Given the description of an element on the screen output the (x, y) to click on. 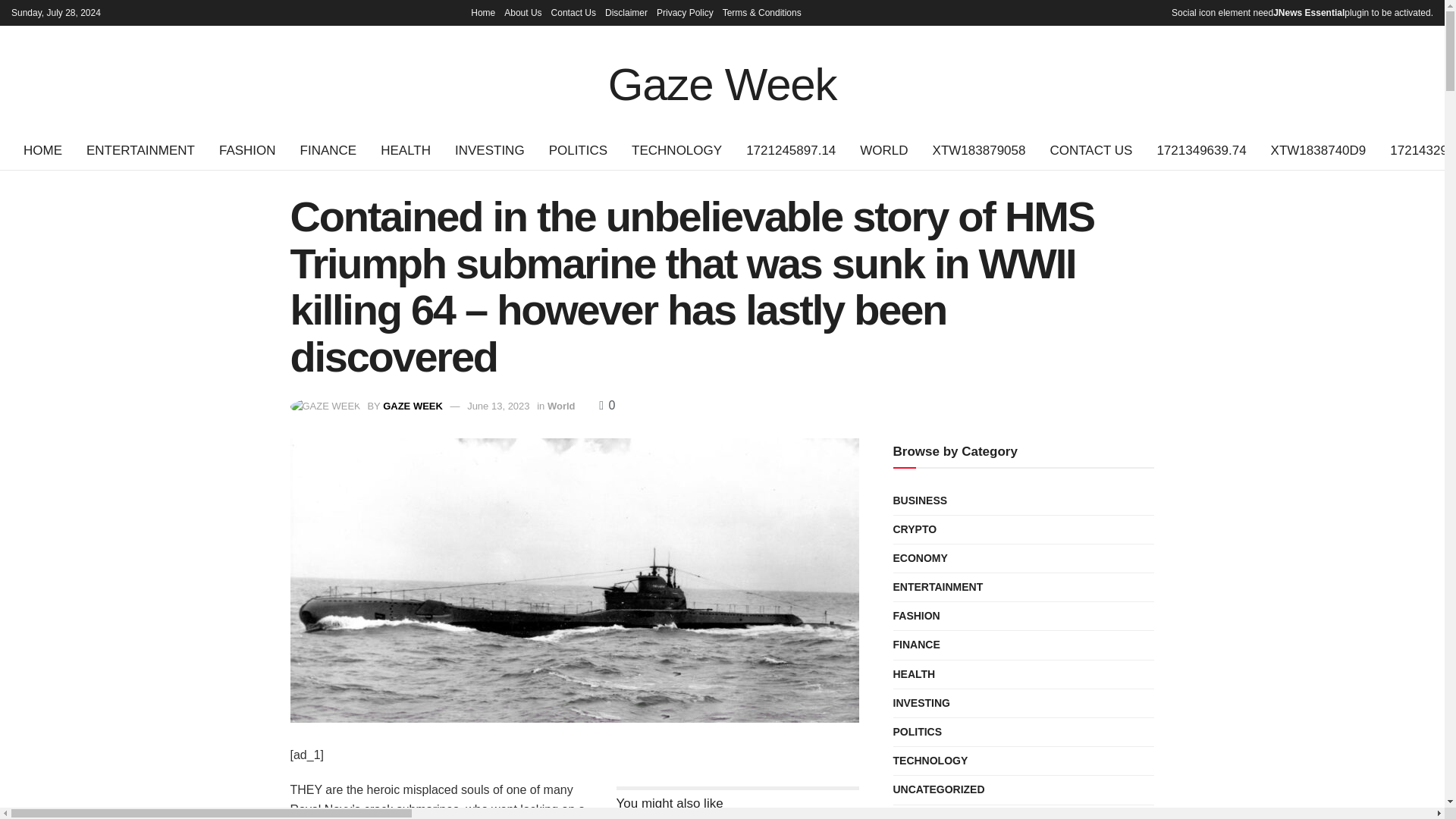
FINANCE (328, 150)
XTW1838740D9 (1318, 150)
Disclaimer (626, 12)
HOME (42, 150)
FASHION (247, 150)
CONTACT US (1090, 150)
POLITICS (578, 150)
HEALTH (405, 150)
Home (482, 12)
1721349639.74 (1200, 150)
TECHNOLOGY (676, 150)
WORLD (883, 150)
Gaze Week (722, 78)
About Us (522, 12)
ENTERTAINMENT (140, 150)
